Given the description of an element on the screen output the (x, y) to click on. 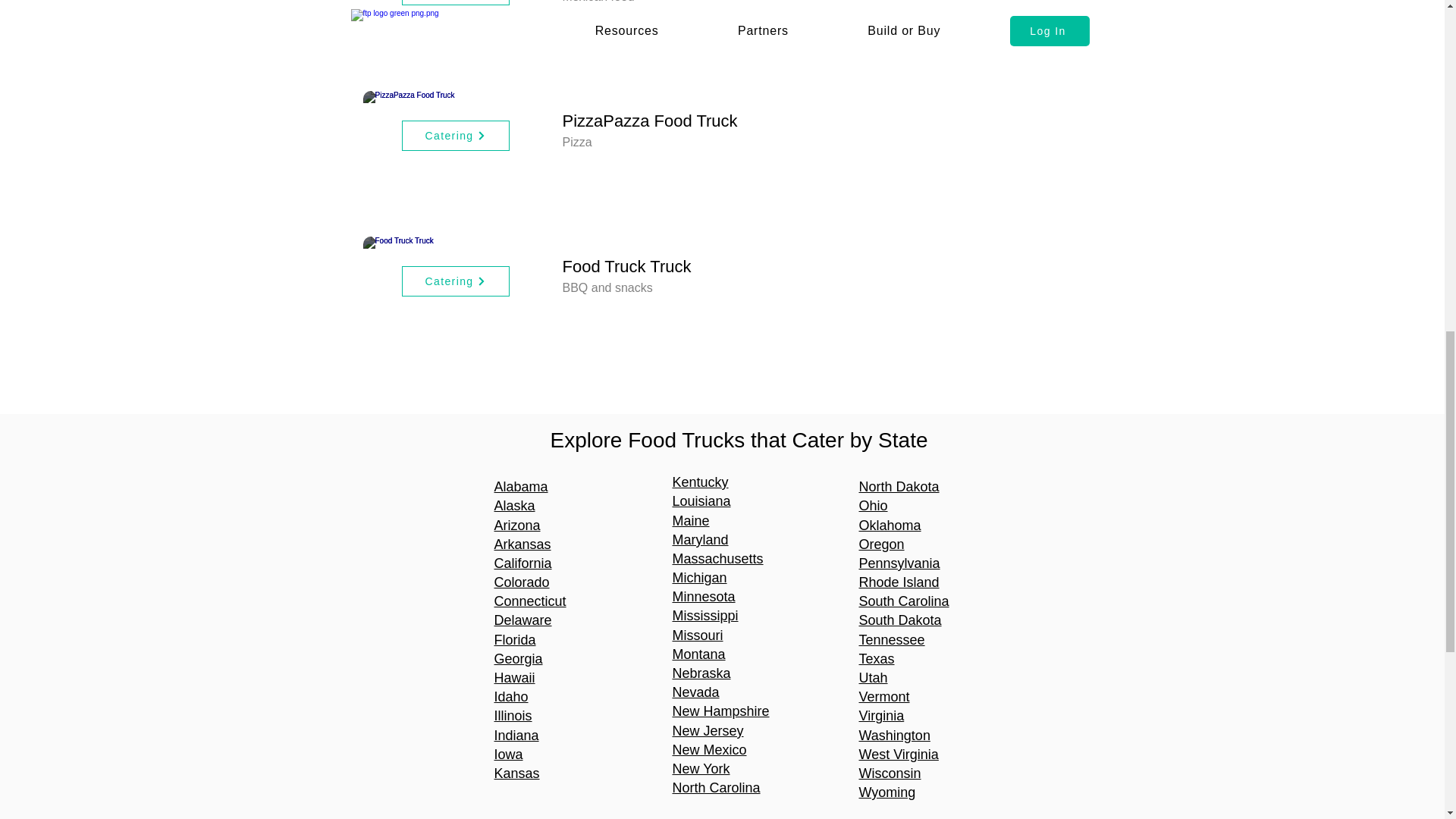
Indiana (516, 735)
California (523, 563)
Alaska (515, 505)
Minnesota (703, 596)
Arizona (517, 524)
Arkansas (523, 544)
Catering (455, 2)
Food Truck Truck (455, 282)
Mississippi (704, 615)
Connecticut (530, 601)
